Given the description of an element on the screen output the (x, y) to click on. 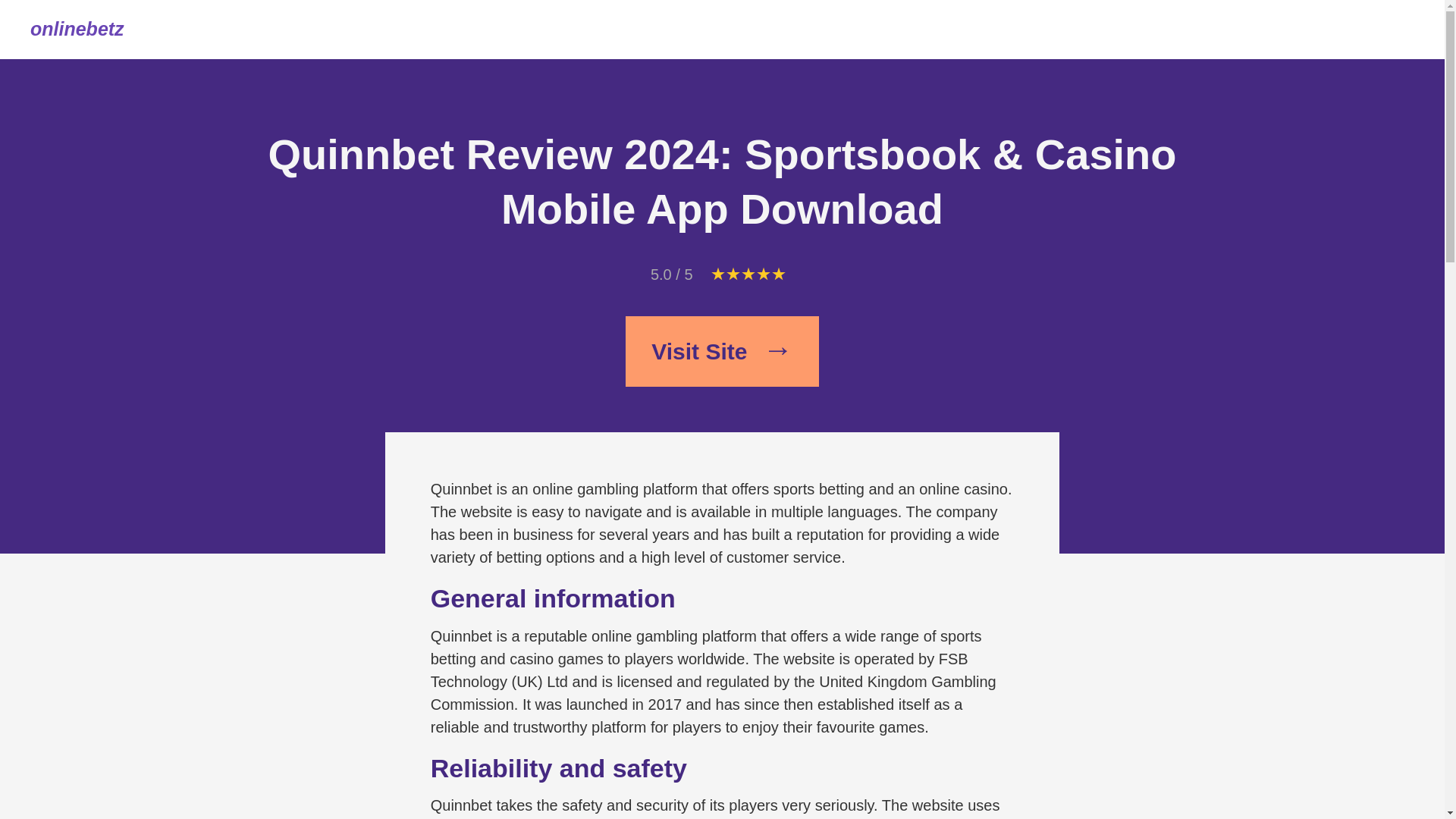
onlinebetz (76, 29)
